Given the description of an element on the screen output the (x, y) to click on. 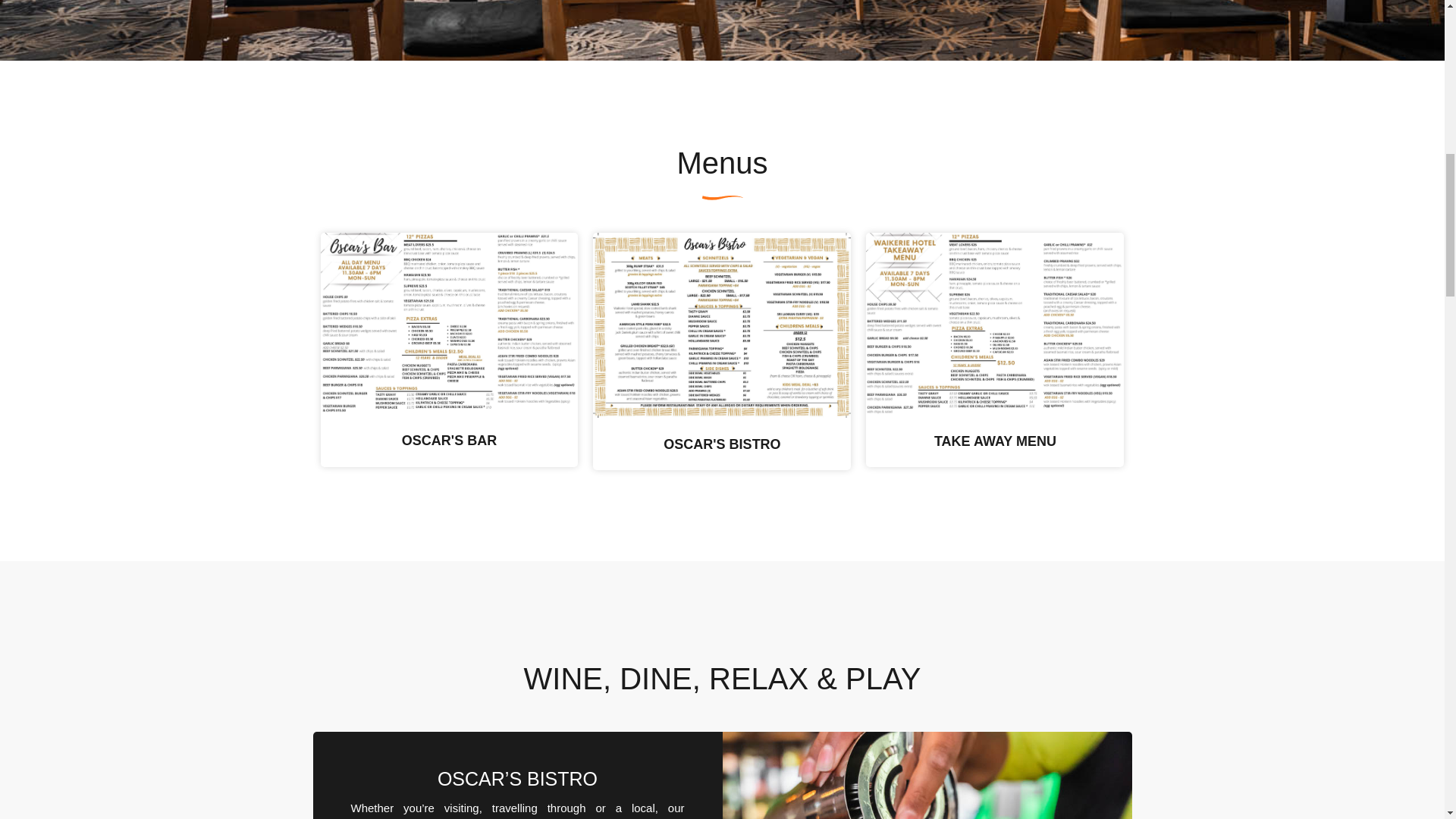
OSCAR'S BISTRO (721, 444)
OSCAR'S BAR (448, 440)
TAKE AWAY MENU (995, 441)
